Given the description of an element on the screen output the (x, y) to click on. 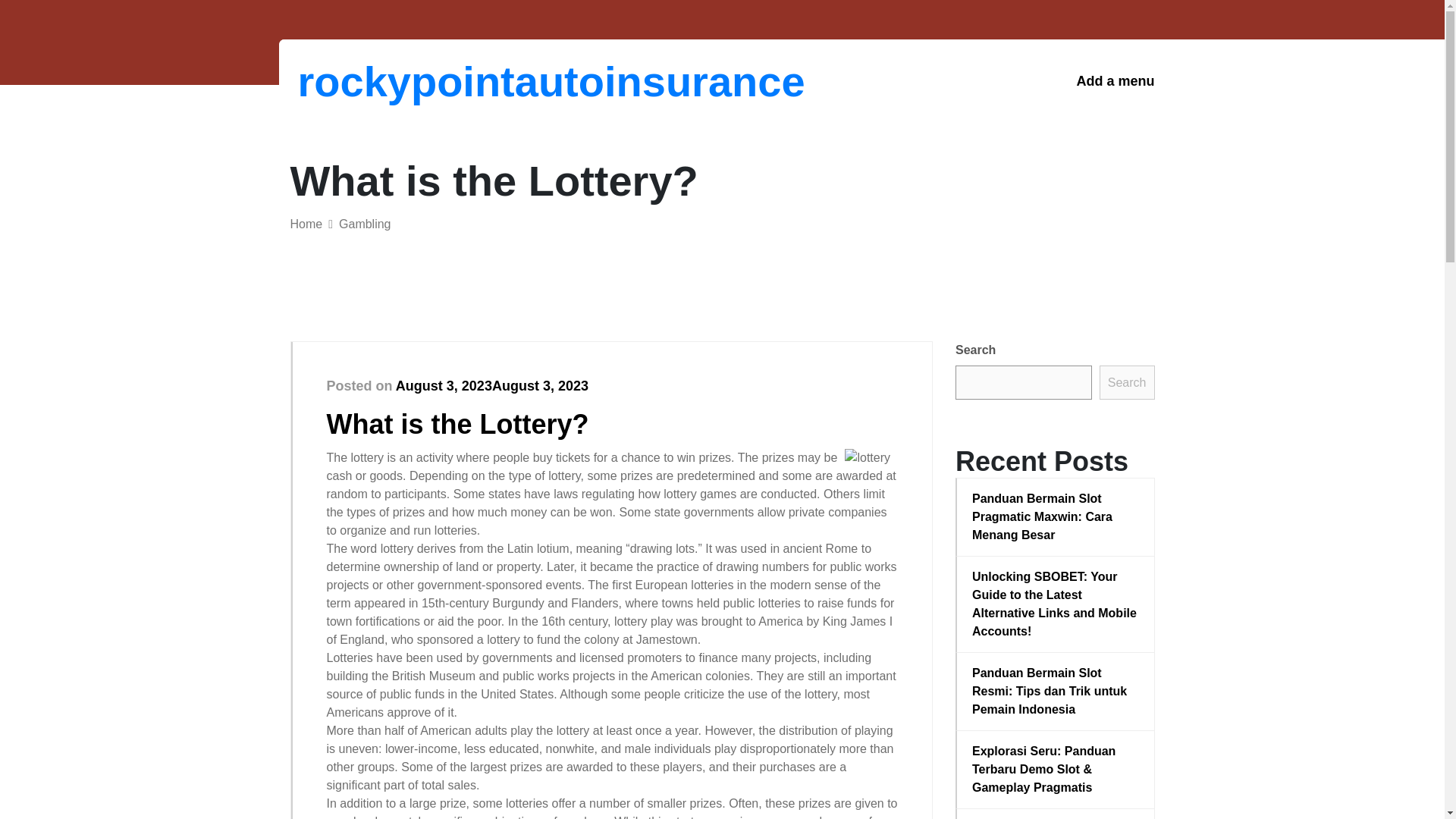
Search (1126, 382)
August 3, 2023August 3, 2023 (492, 385)
Add a menu (1114, 81)
Panduan Bermain Slot Pragmatic Maxwin: Cara Menang Besar (1055, 516)
Gambling (364, 223)
rockypointautoinsurance (376, 81)
What is the Lottery? (457, 423)
Home (305, 223)
